Given the description of an element on the screen output the (x, y) to click on. 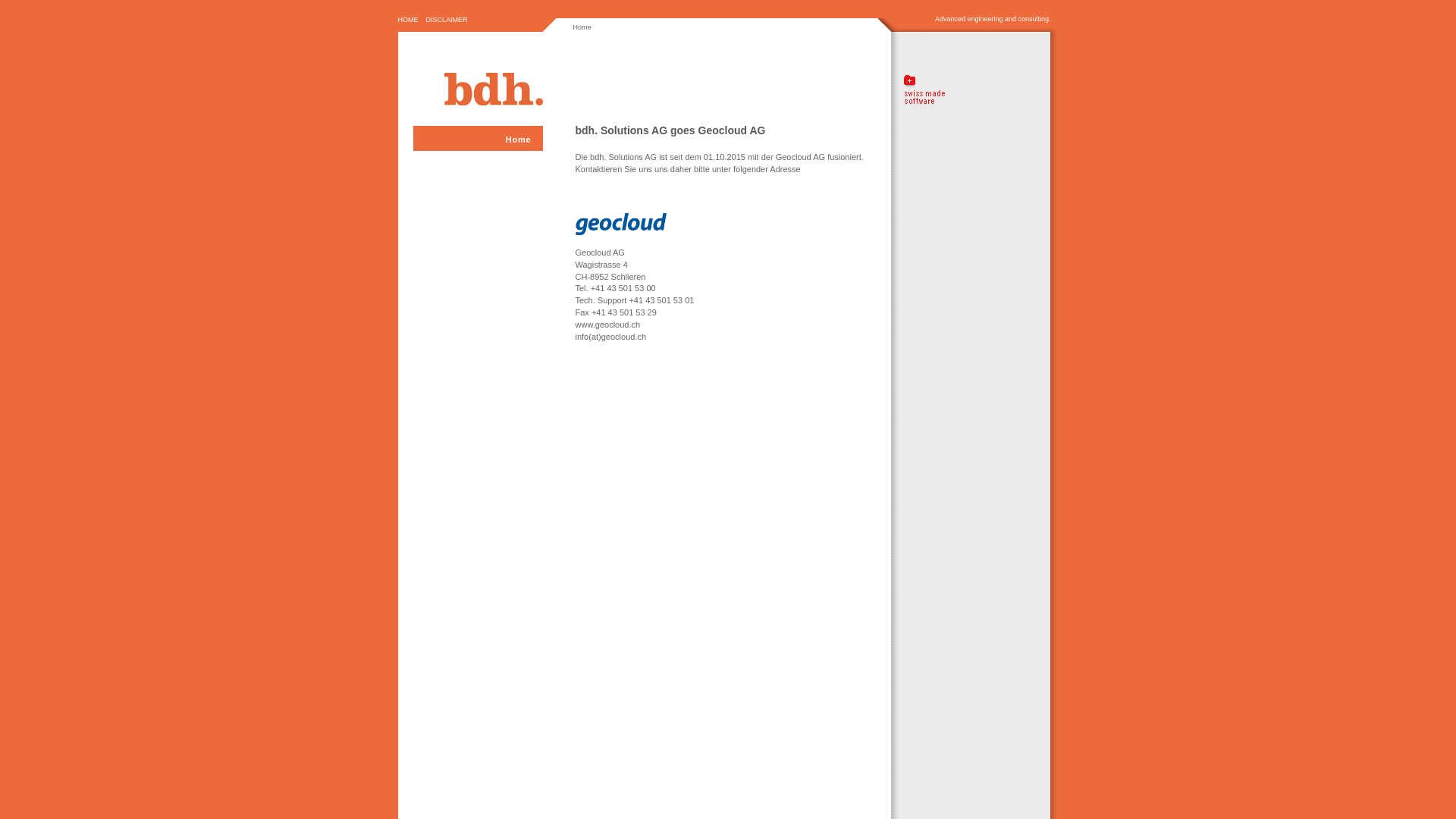
Home Element type: text (477, 140)
Geocloud Element type: hover (619, 223)
DISCLAIMER Element type: text (448, 19)
HOME Element type: text (408, 19)
